Given the description of an element on the screen output the (x, y) to click on. 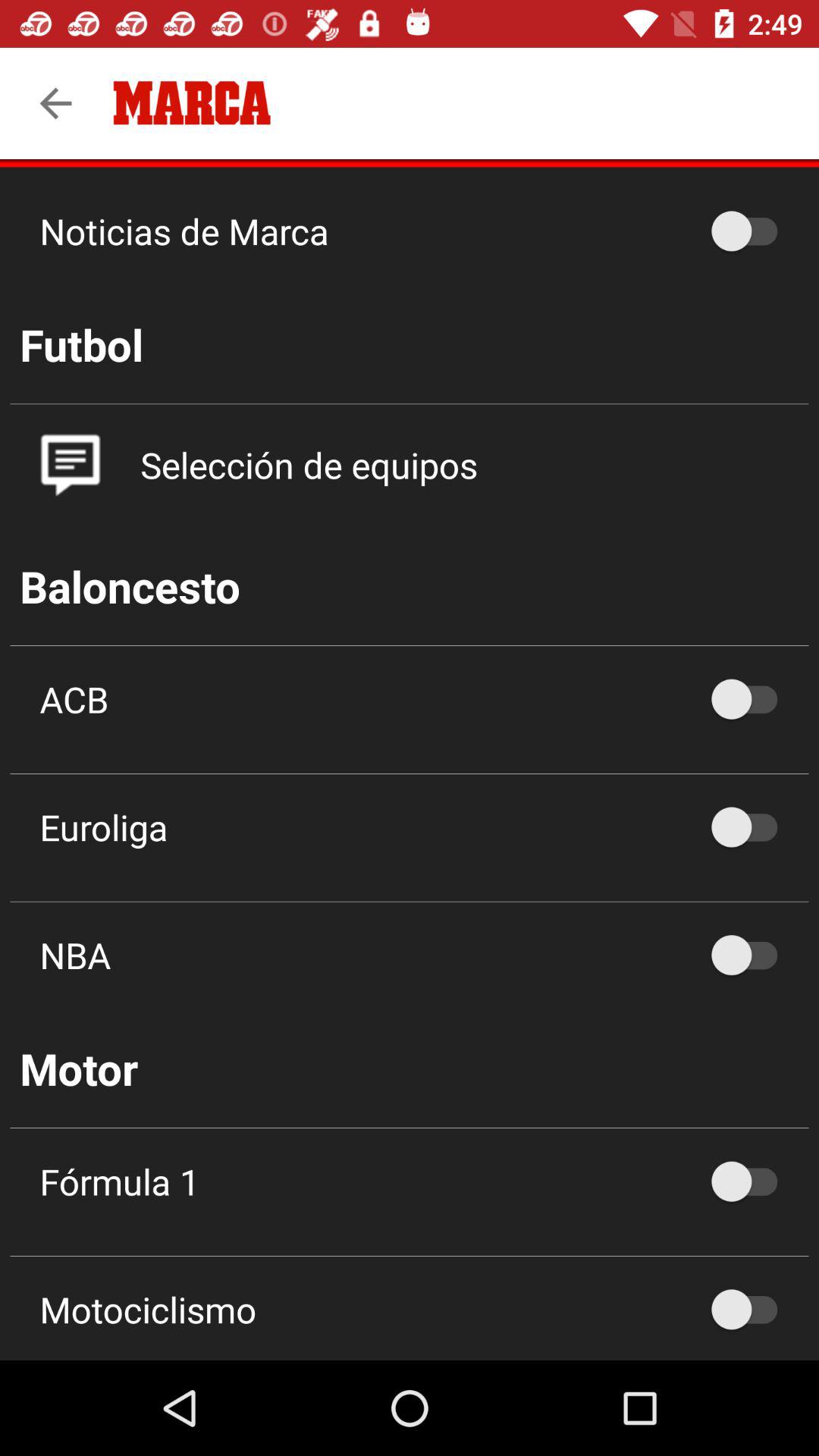
toggle noticias de marca option (751, 231)
